Given the description of an element on the screen output the (x, y) to click on. 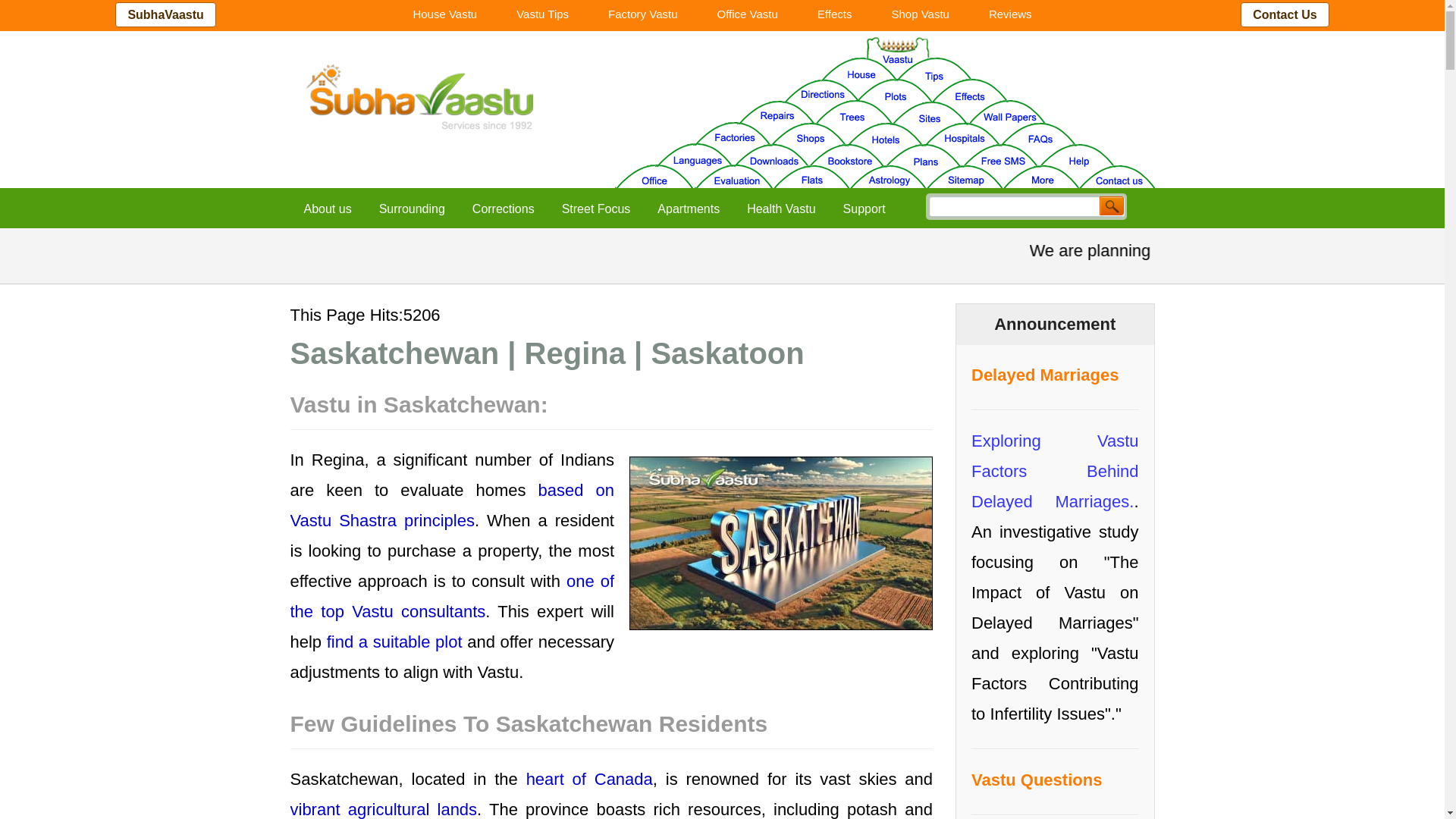
About us (327, 208)
Office Vastu (747, 13)
Vastu Tips (542, 13)
Reviews (1010, 13)
House Vastu (444, 13)
SubhaVaastu (165, 14)
Factory Vastu (642, 13)
Effects (834, 13)
Contact Us (1283, 14)
Shop Vastu (919, 13)
